Given the description of an element on the screen output the (x, y) to click on. 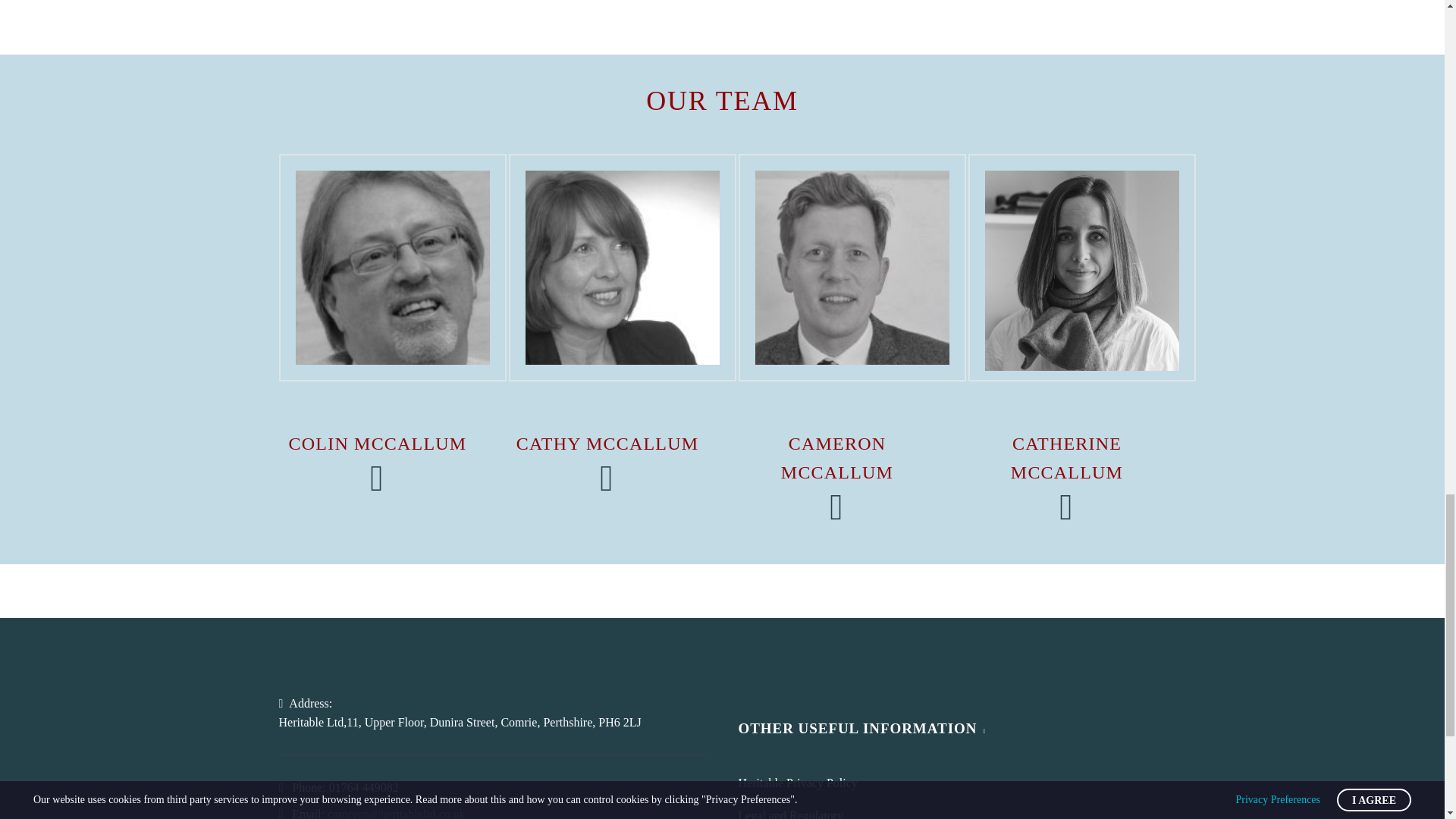
CATHY MCCALLUM (607, 443)
CATHERINE MCCALLUM (1066, 458)
Legal and Regulatory (791, 814)
01764 449082 (363, 787)
Heritable Privacy Policy (797, 782)
CAMERON MCCALLUM (836, 458)
COLIN MCCALLUM (377, 443)
